Given the description of an element on the screen output the (x, y) to click on. 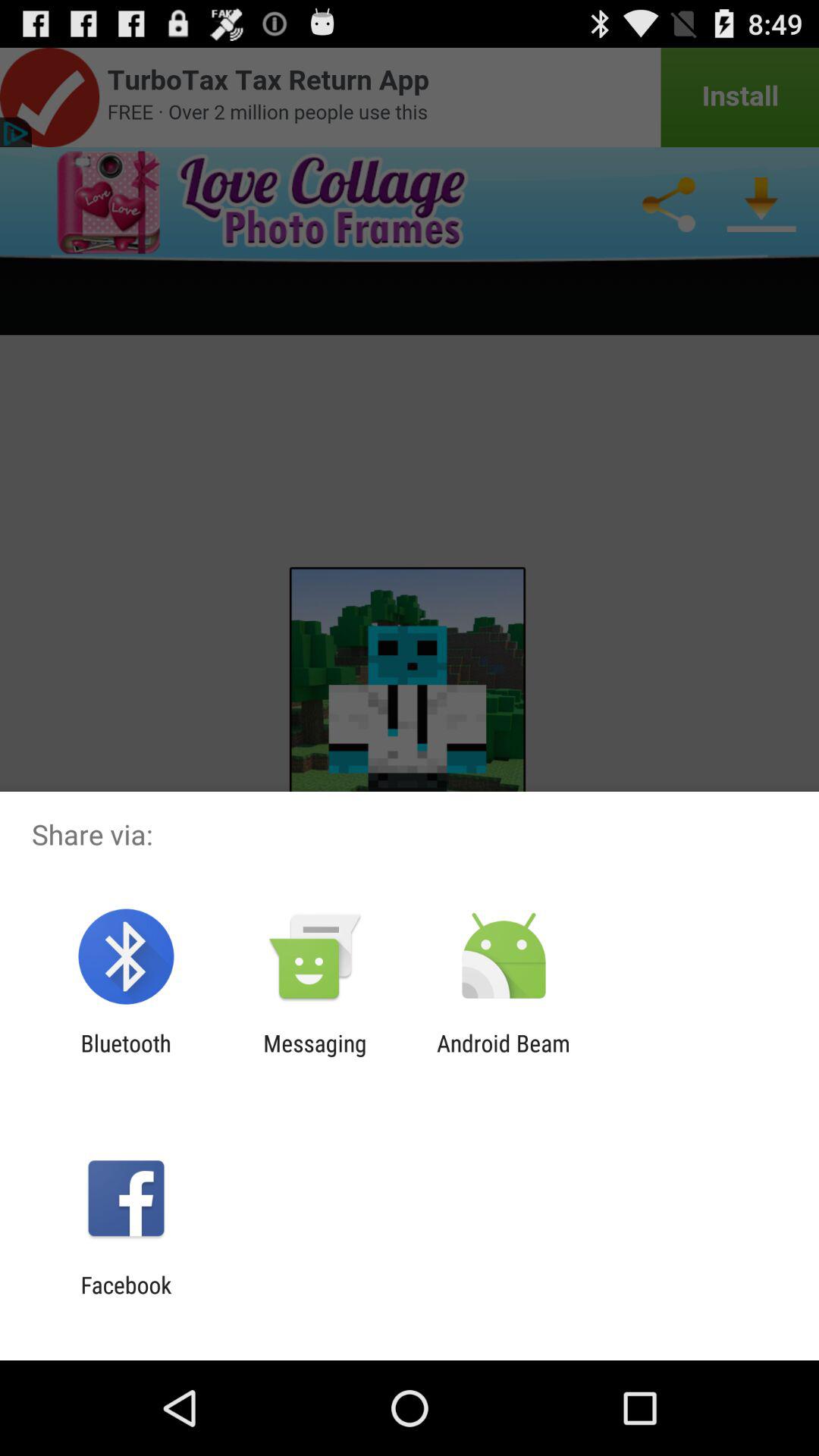
open the item next to bluetooth item (314, 1056)
